Given the description of an element on the screen output the (x, y) to click on. 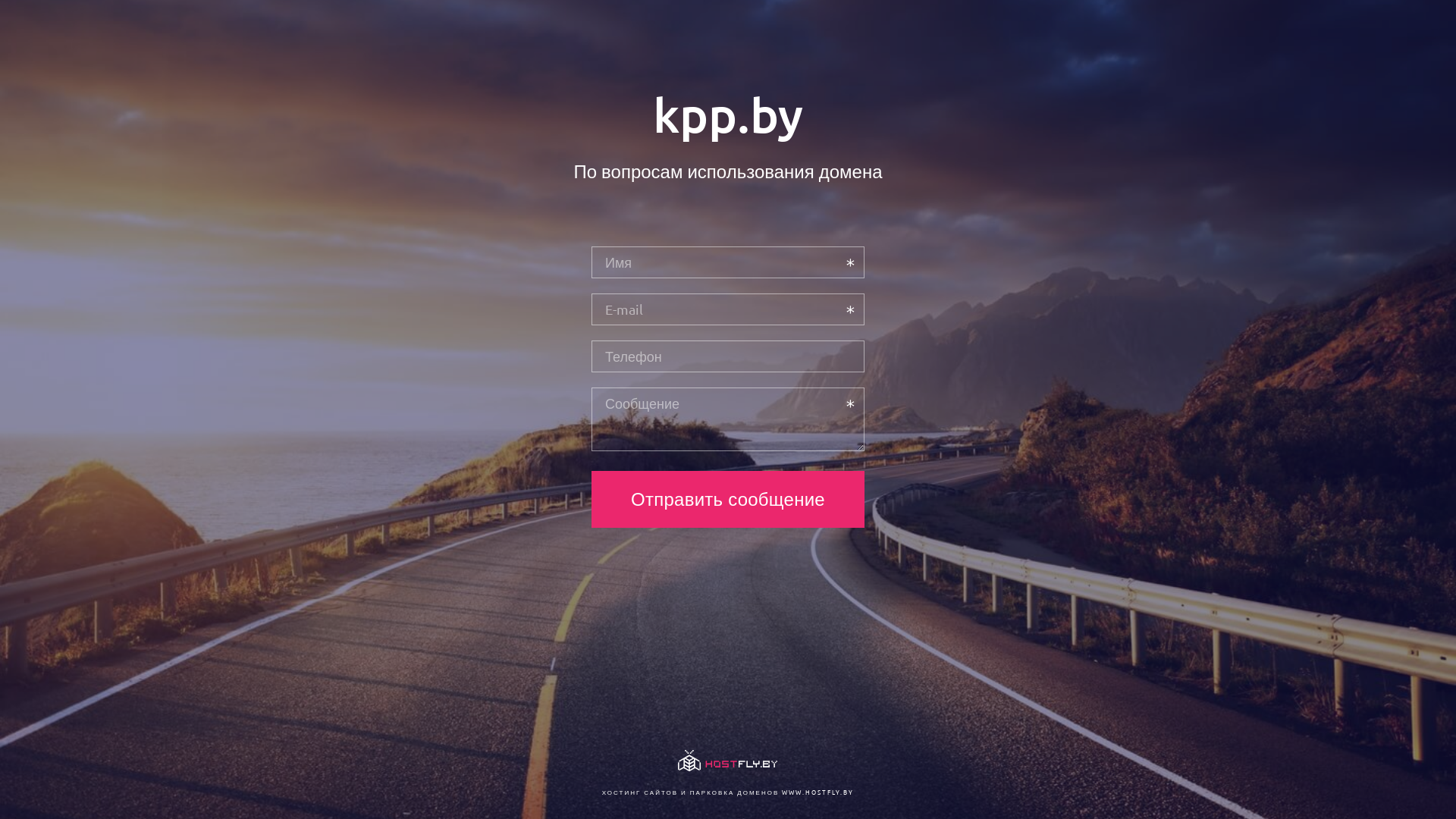
WWW.HOSTFLY.BY Element type: text (817, 791)
